Given the description of an element on the screen output the (x, y) to click on. 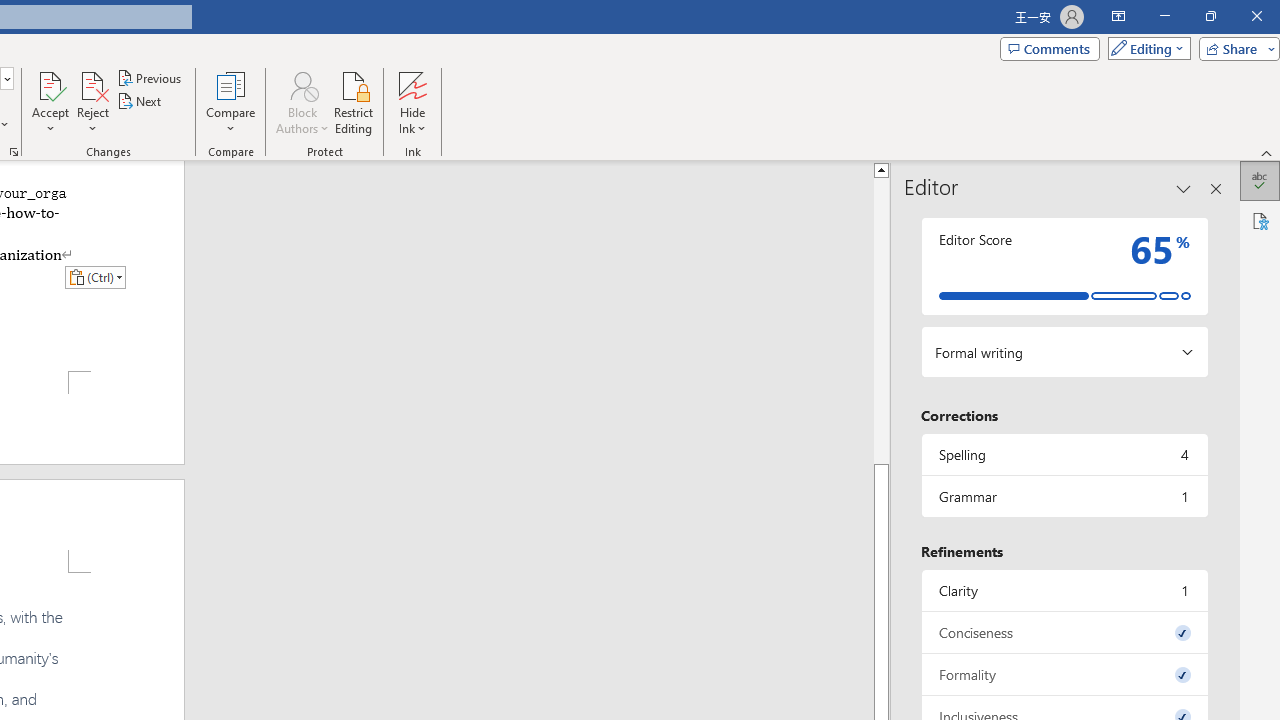
Accessibility (1260, 220)
Editor Score 65% (1064, 266)
Page up (880, 320)
Reject and Move to Next (92, 84)
Change Tracking Options... (13, 151)
Hide Ink (412, 102)
Accept and Move to Next (50, 84)
Restrict Editing (353, 102)
Block Authors (302, 102)
Formality, 0 issues. Press space or enter to review items. (1064, 673)
